Given the description of an element on the screen output the (x, y) to click on. 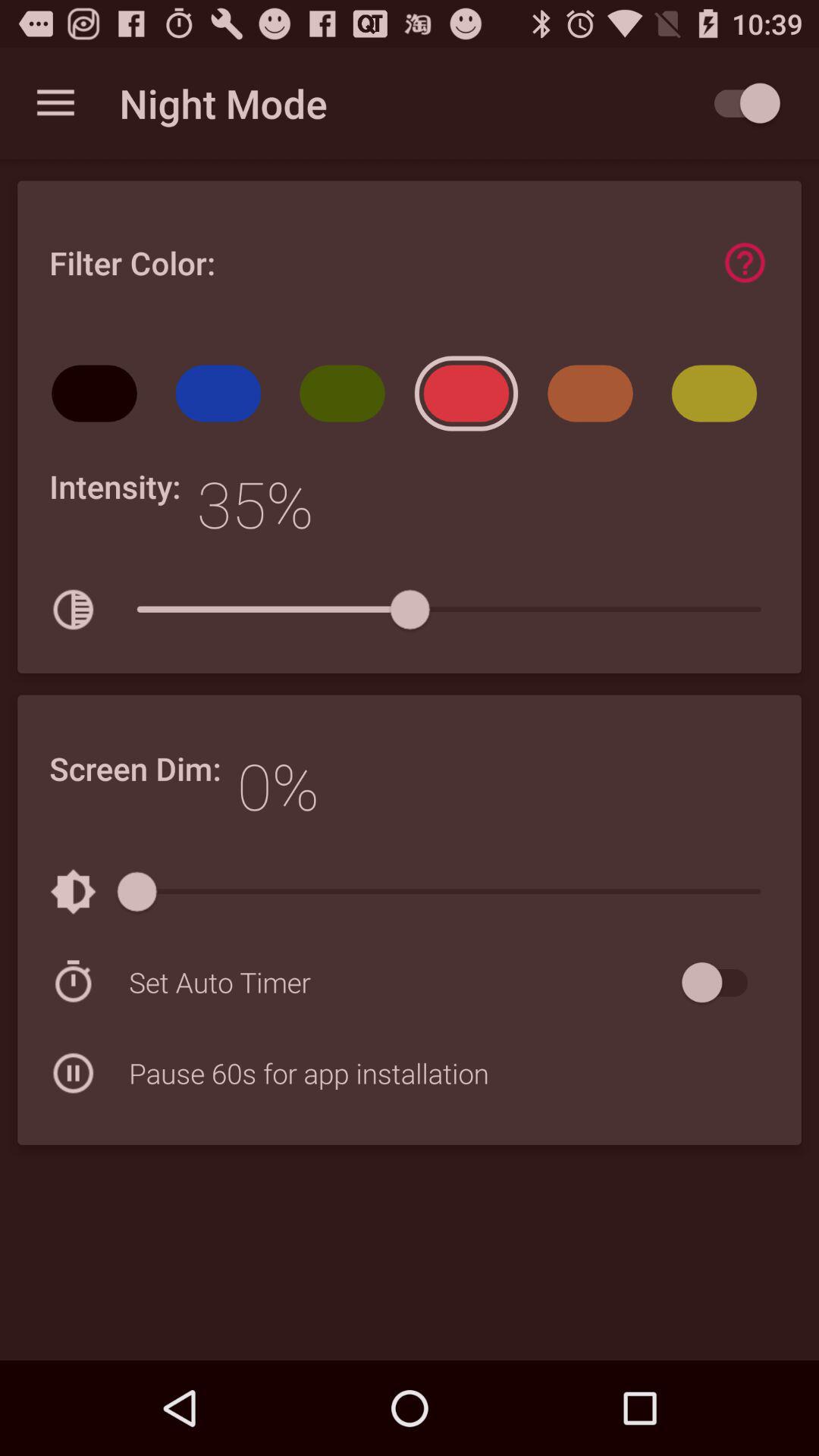
click icon at the bottom right corner (722, 982)
